Given the description of an element on the screen output the (x, y) to click on. 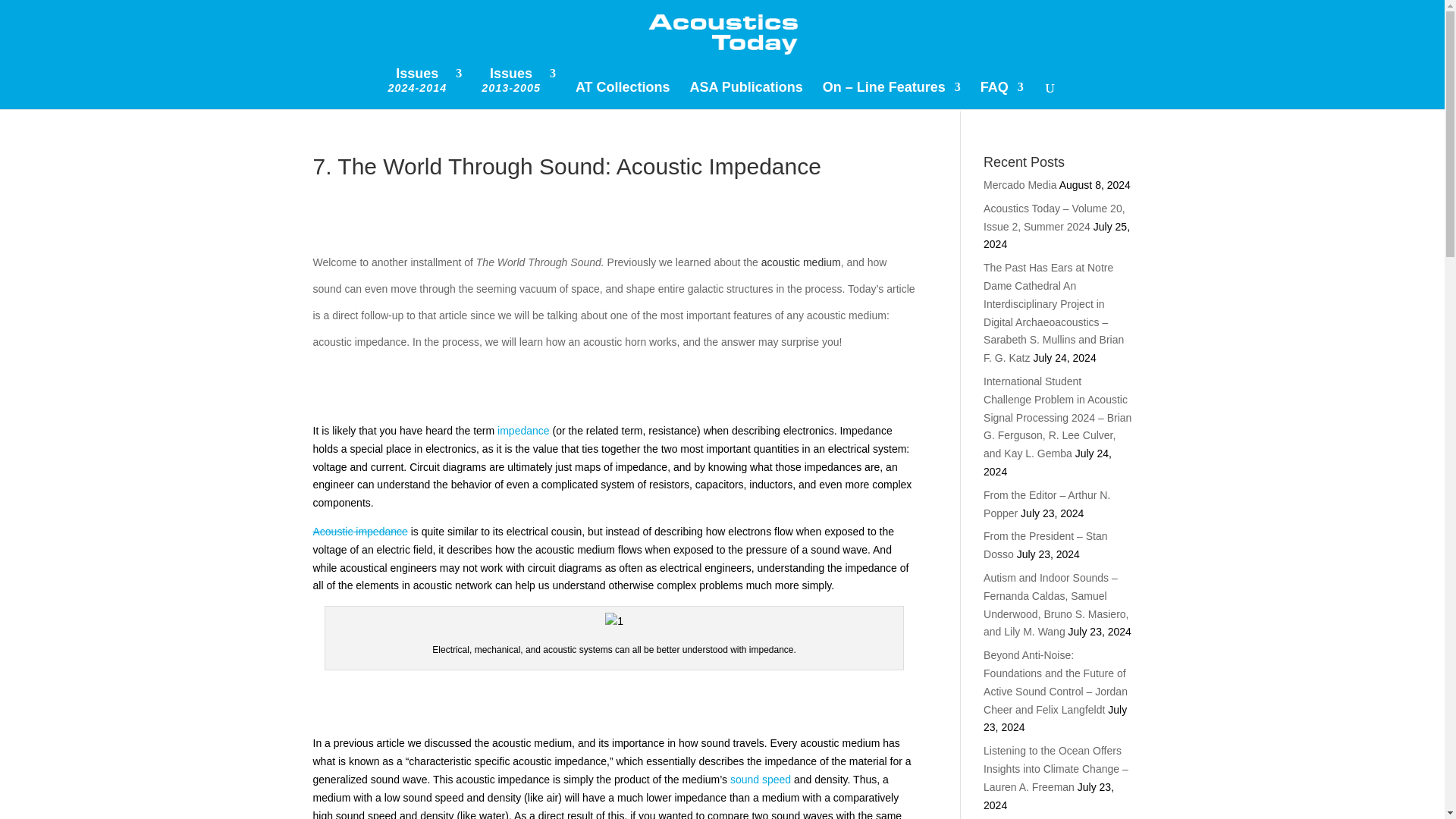
FAQ (518, 87)
ASA Publications (1001, 92)
AT Collections (424, 87)
